Given the description of an element on the screen output the (x, y) to click on. 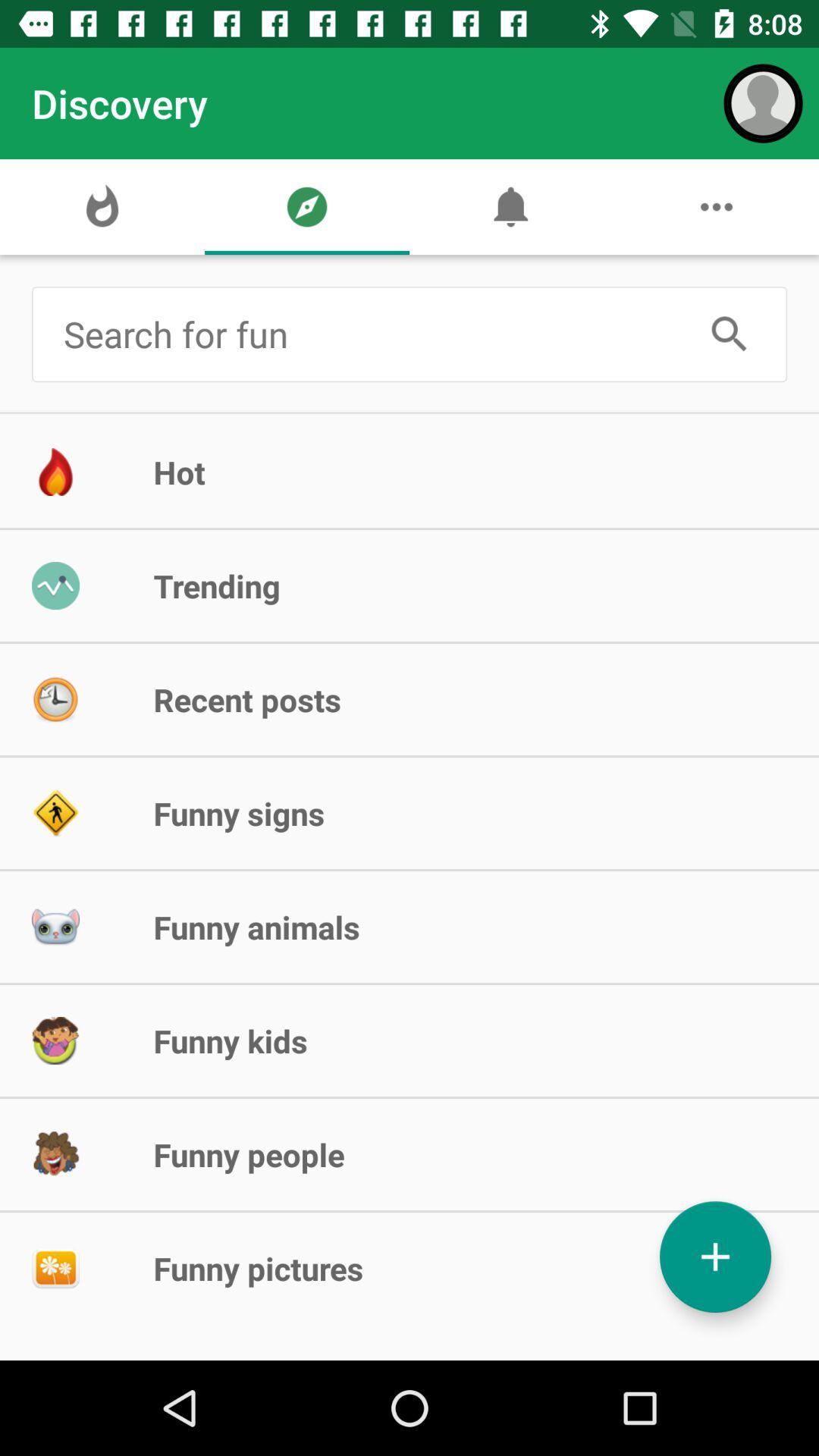
add image (715, 1256)
